Given the description of an element on the screen output the (x, y) to click on. 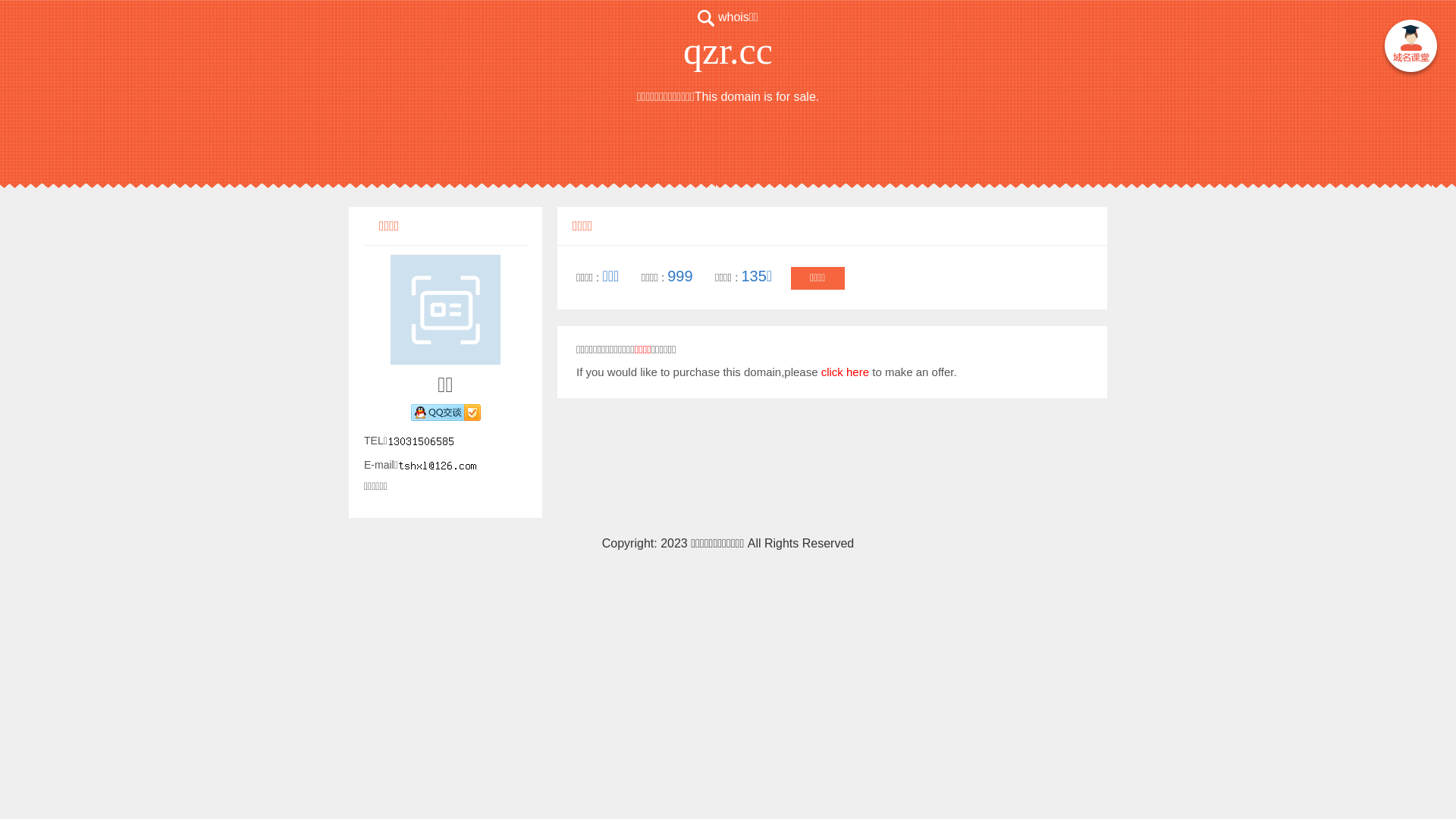
click here Element type: text (845, 371)
  Element type: text (1410, 48)
